Given the description of an element on the screen output the (x, y) to click on. 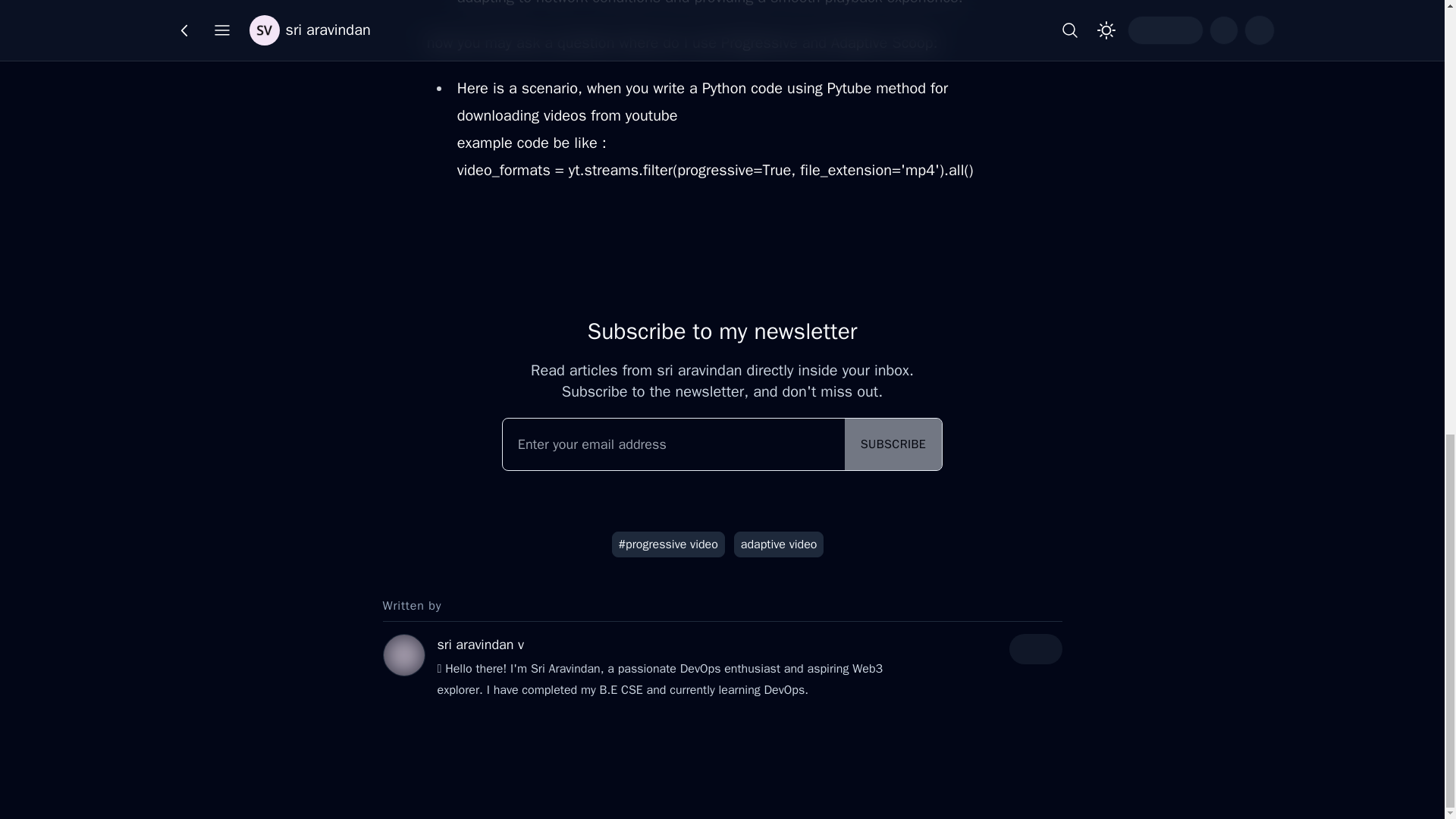
SUBSCRIBE (893, 444)
sri aravindan v (479, 644)
adaptive video (778, 544)
